Given the description of an element on the screen output the (x, y) to click on. 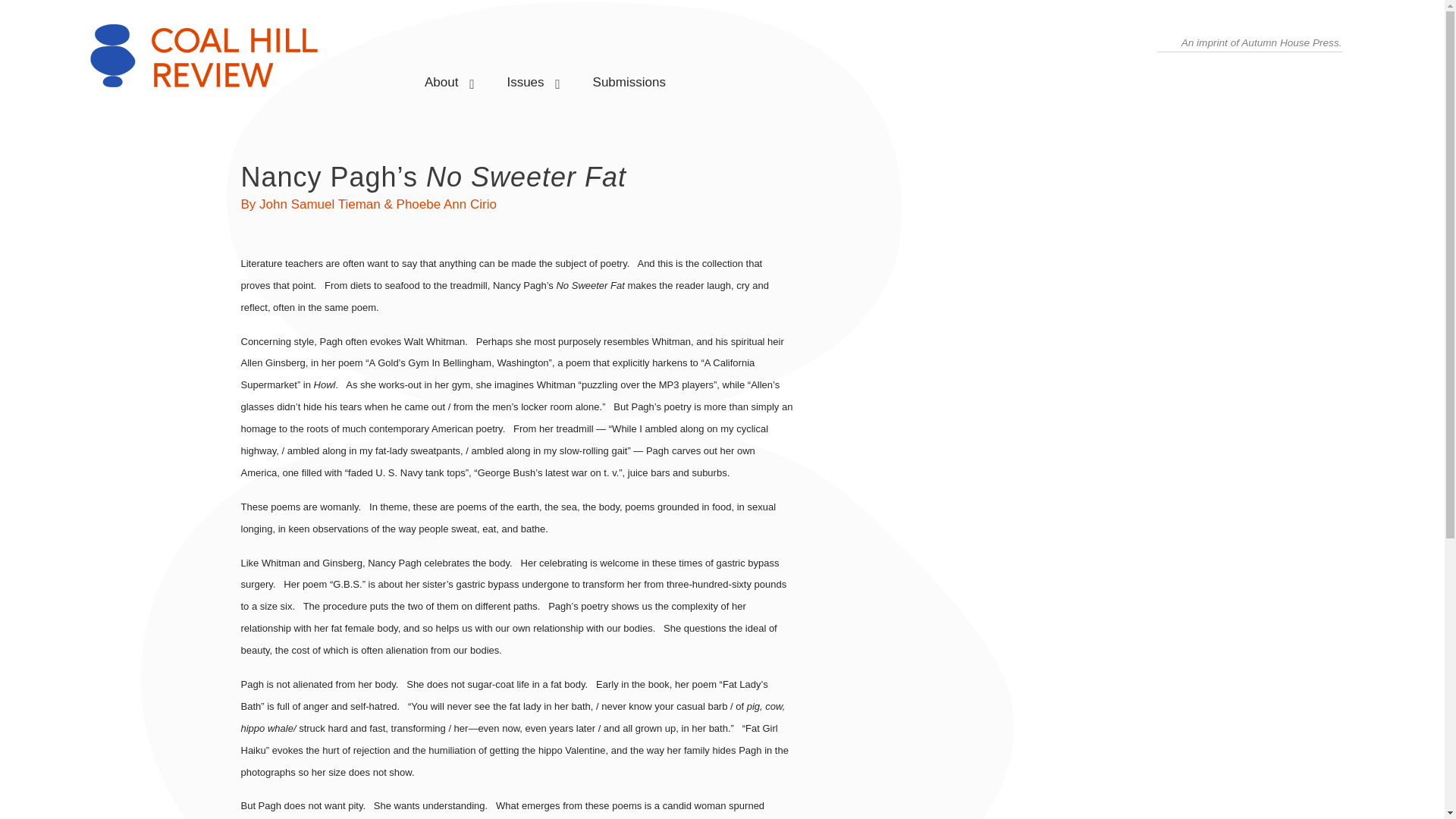
An imprint of Autumn House Press. (1261, 42)
About (440, 76)
Issues (524, 76)
Phoebe Ann Cirio (446, 204)
Submissions (629, 76)
John Samuel Tieman (319, 204)
Search (26, 12)
